Given the description of an element on the screen output the (x, y) to click on. 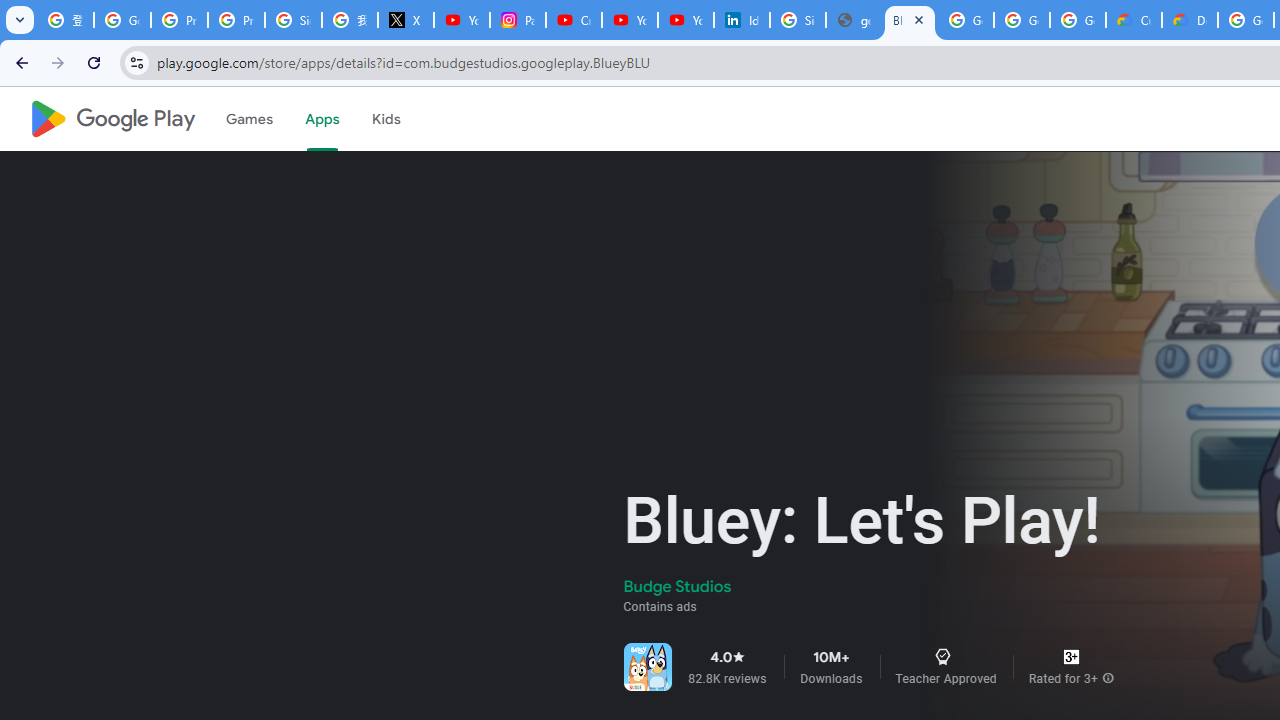
YouTube Content Monetization Policies - How YouTube Works (461, 20)
Privacy Help Center - Policies Help (179, 20)
More info about this content rating (1108, 678)
X (405, 20)
Bluey: Let's Play! - Apps on Google Play (909, 20)
Google Workspace - Specific Terms (1077, 20)
Google Workspace - Specific Terms (1021, 20)
